Given the description of an element on the screen output the (x, y) to click on. 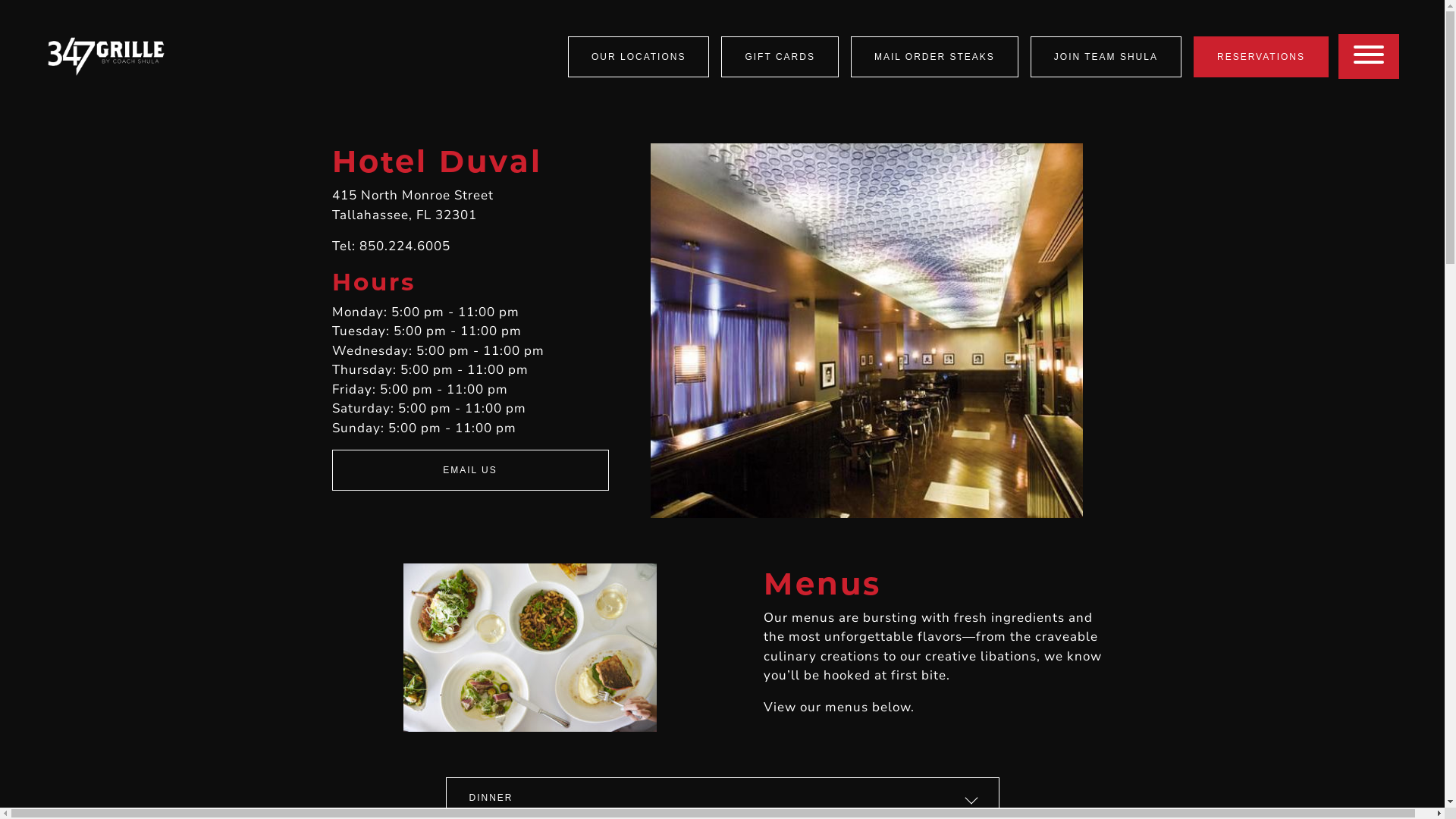
DINNER Element type: text (722, 797)
MAIL ORDER STEAKS Element type: text (934, 56)
GIFT CARDS Element type: text (779, 56)
EMAIL US Element type: text (470, 469)
RESERVATIONS Element type: text (1260, 56)
JOIN TEAM SHULA Element type: text (1105, 56)
OUR LOCATIONS Element type: text (638, 56)
